Given the description of an element on the screen output the (x, y) to click on. 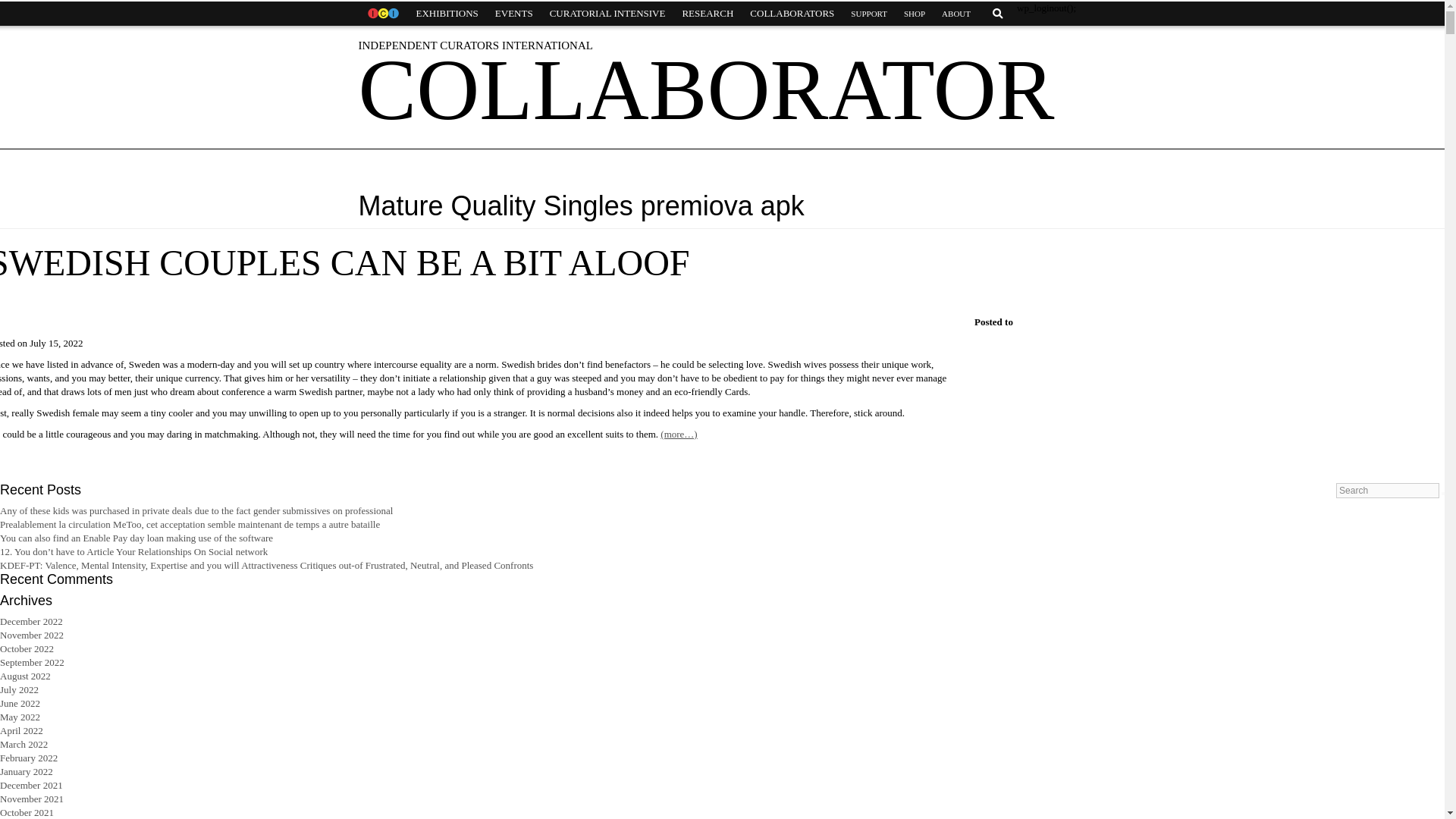
RESEARCH (706, 13)
EXHIBITIONS (446, 13)
HOME (382, 13)
COLLABORATORS (792, 13)
CURATORIAL INTENSIVE (607, 13)
EVENTS (513, 13)
